Given the description of an element on the screen output the (x, y) to click on. 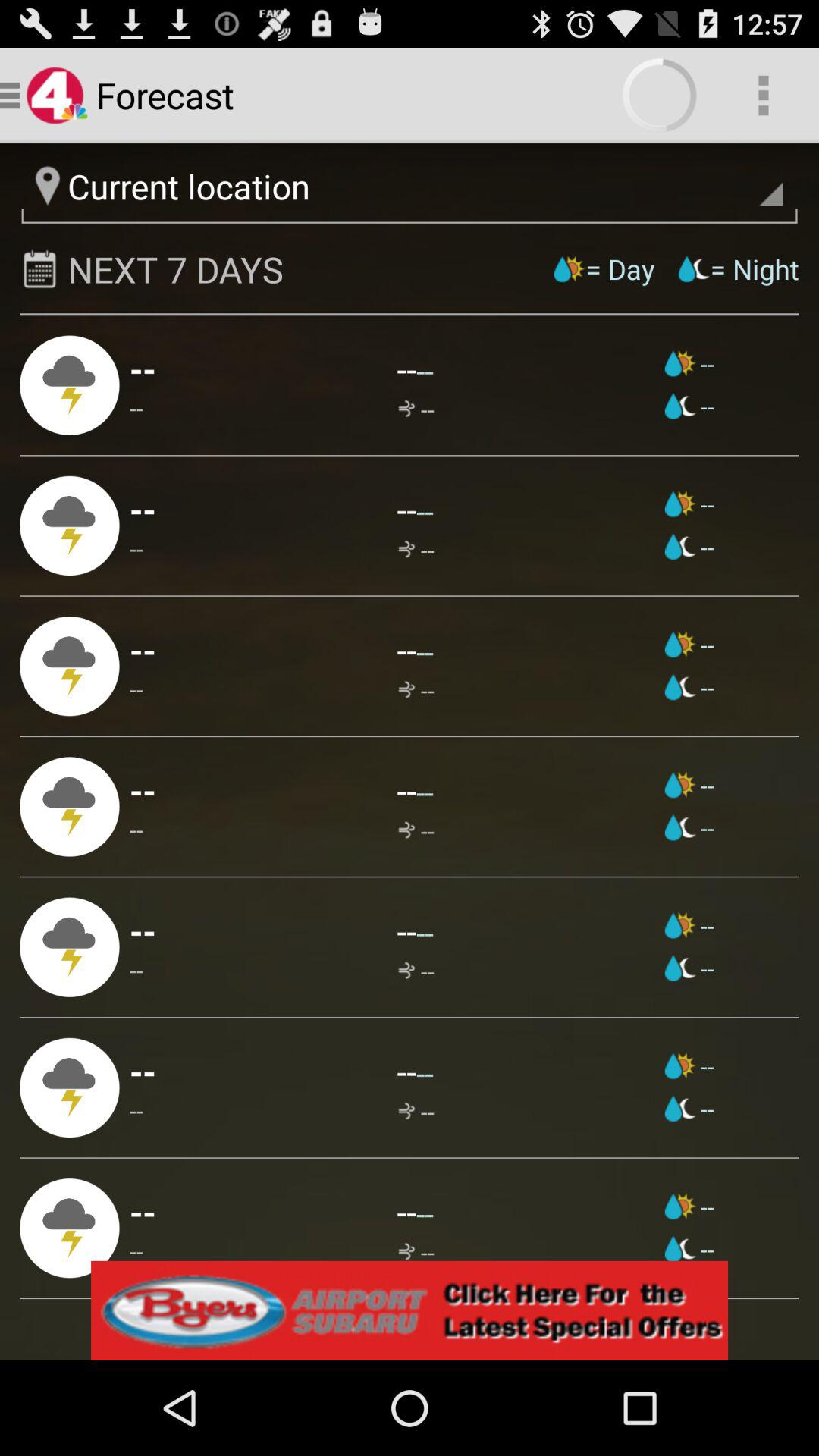
tap icon next to -- (689, 687)
